Given the description of an element on the screen output the (x, y) to click on. 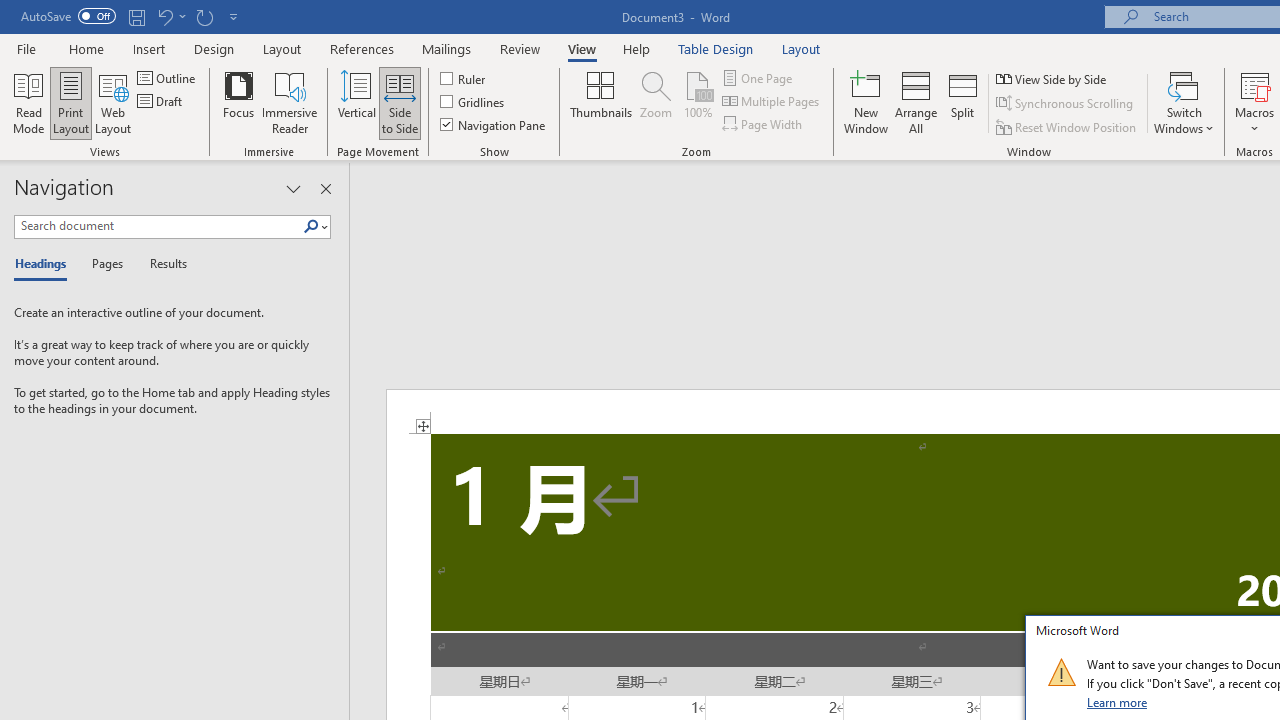
Multiple Pages (772, 101)
Arrange All (916, 102)
Thumbnails (601, 102)
Switch Windows (1184, 102)
Vertical (356, 102)
Immersive Reader (289, 102)
Draft (161, 101)
New Window (866, 102)
Undo Increase Indent (164, 15)
Navigation Pane (493, 124)
